Given the description of an element on the screen output the (x, y) to click on. 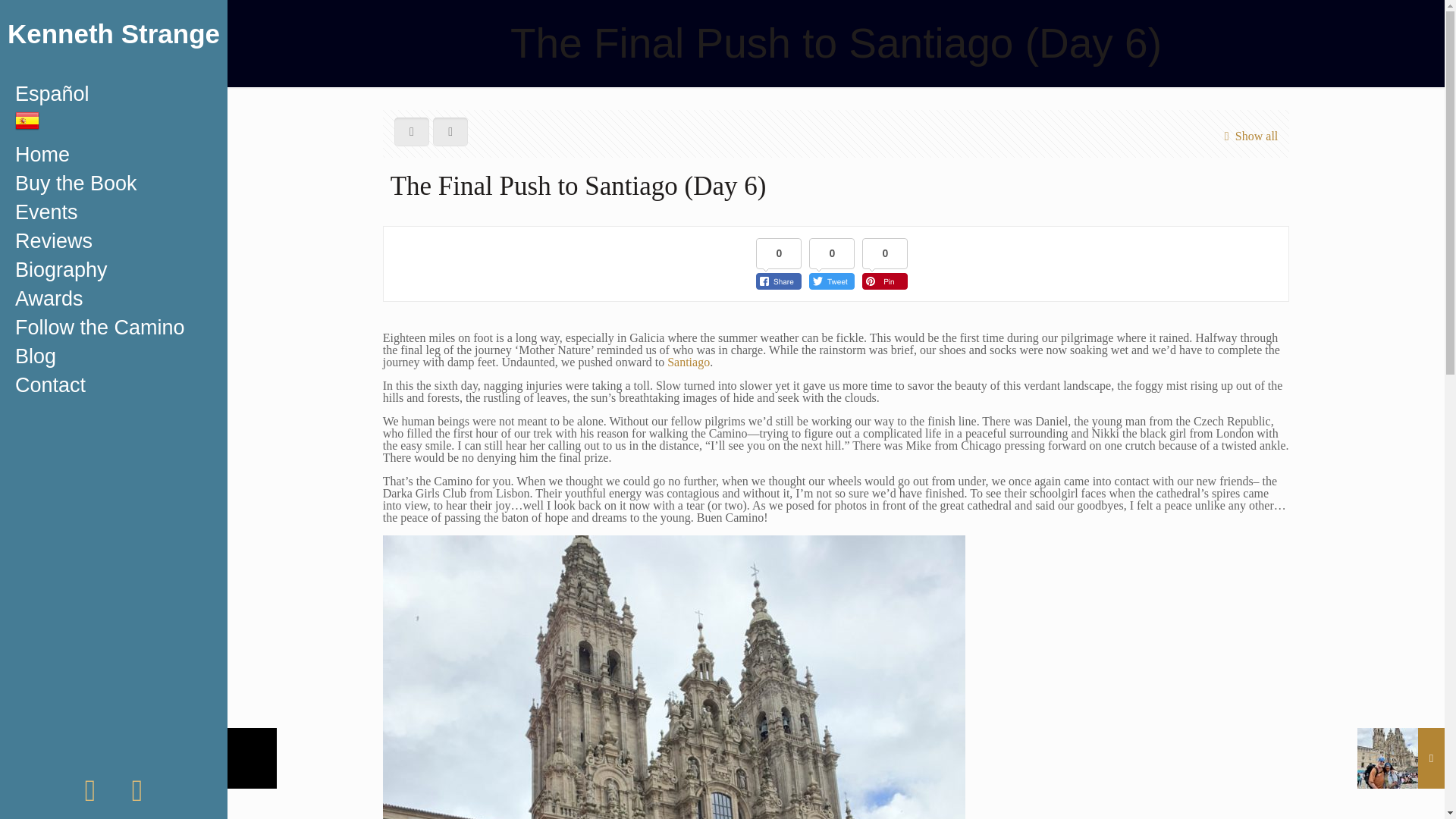
Contact (113, 385)
Follow the Camino (113, 327)
Facebook (90, 797)
Santiago (688, 361)
Biography (113, 269)
Kenneth Strange (113, 39)
Home (113, 154)
Awards (113, 298)
Events (113, 212)
Show all (1247, 135)
Reviews (113, 240)
Buy the Book (113, 183)
Blog (113, 356)
Kenneth Strange (113, 39)
LinkedIn (137, 797)
